Given the description of an element on the screen output the (x, y) to click on. 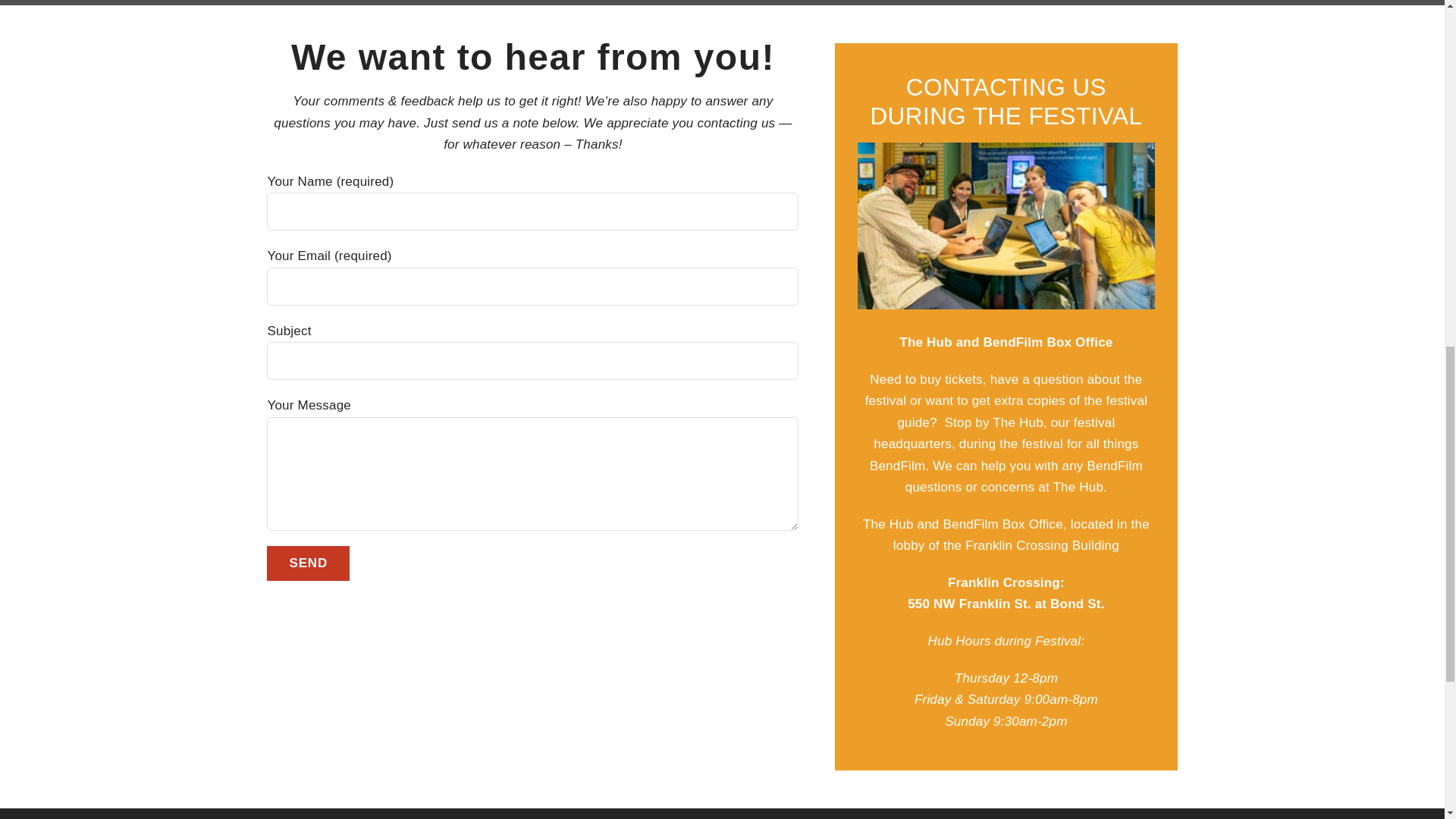
Send (307, 563)
